Given the description of an element on the screen output the (x, y) to click on. 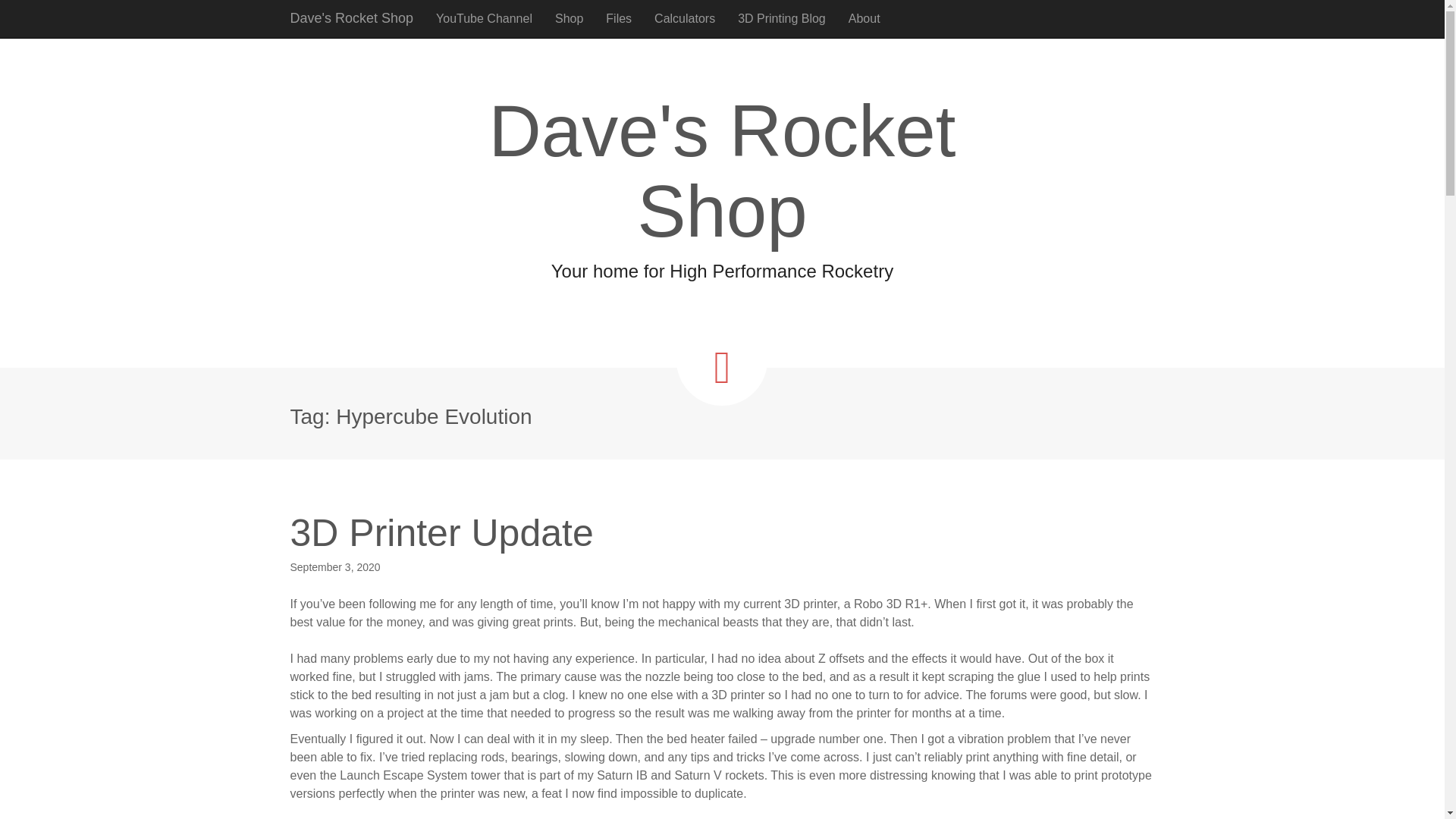
Files (618, 18)
3D Printing Blog (781, 18)
September 3, 2020 (334, 567)
YouTube Channel (484, 18)
3D Printer Update (440, 532)
Calculators (684, 18)
Dave's Rocket Shop (352, 18)
Shop (568, 18)
Dave's Rocket Shop (352, 18)
About (864, 18)
